Given the description of an element on the screen output the (x, y) to click on. 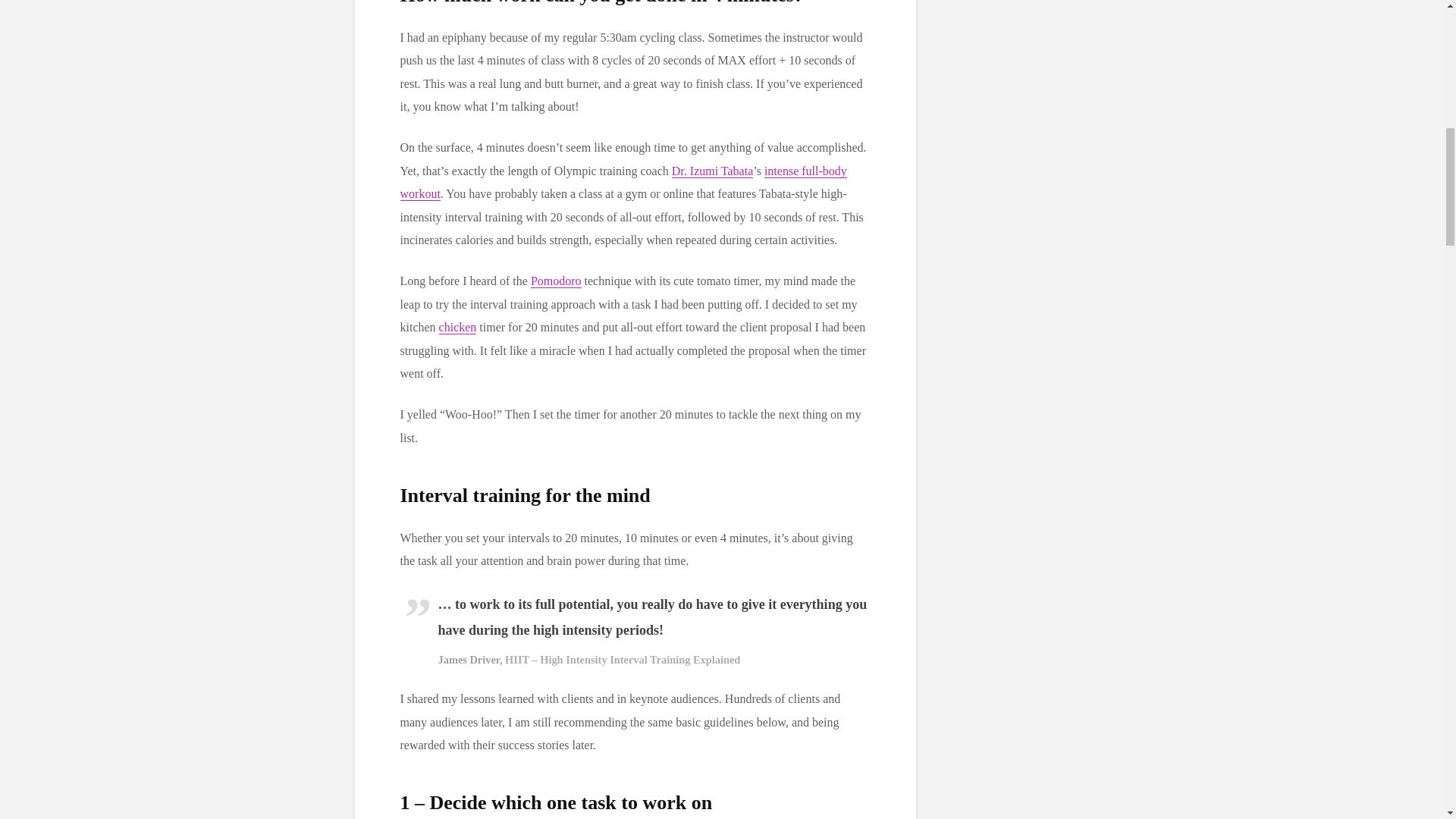
Dr. Izumi Tabata (711, 171)
chicken (458, 327)
Pomodoro (555, 281)
intense full-body workout (623, 182)
